Given the description of an element on the screen output the (x, y) to click on. 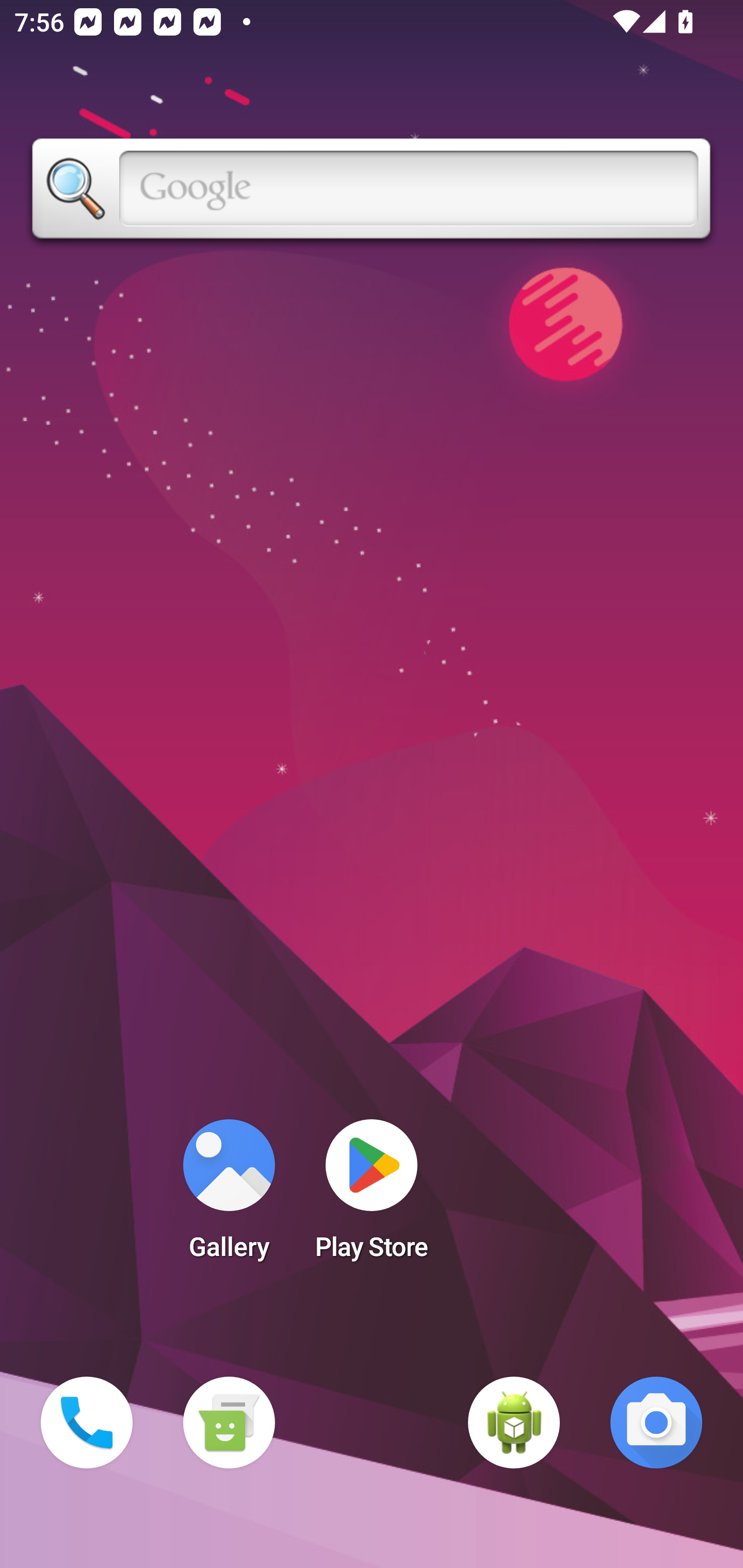
Gallery (228, 1195)
Play Store (371, 1195)
Phone (86, 1422)
Messaging (228, 1422)
WebView Browser Tester (513, 1422)
Camera (656, 1422)
